Given the description of an element on the screen output the (x, y) to click on. 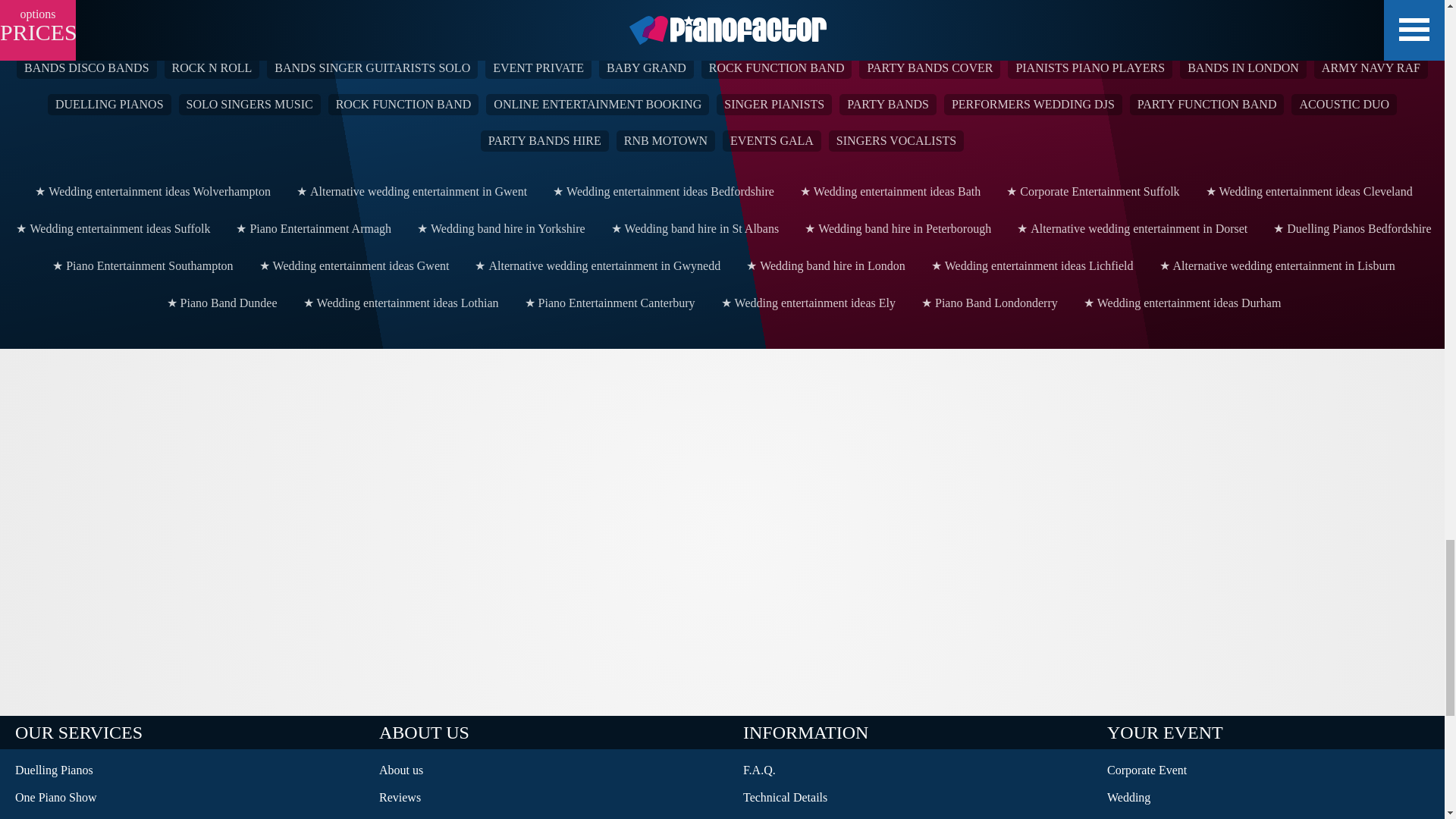
Duelling Pianos (182, 769)
Piano Entertainment Canterbury (608, 302)
Wedding entertainment ideas Durham (1180, 302)
Piano Band Londonderry (988, 302)
Wedding entertainment ideas Lothian (399, 302)
About us (546, 769)
Wedding entertainment ideas Bedfordshire (662, 190)
Reviews (546, 797)
Alternative wedding entertainment in Gwynedd (595, 265)
Piano Entertainment Armagh (311, 228)
